Given the description of an element on the screen output the (x, y) to click on. 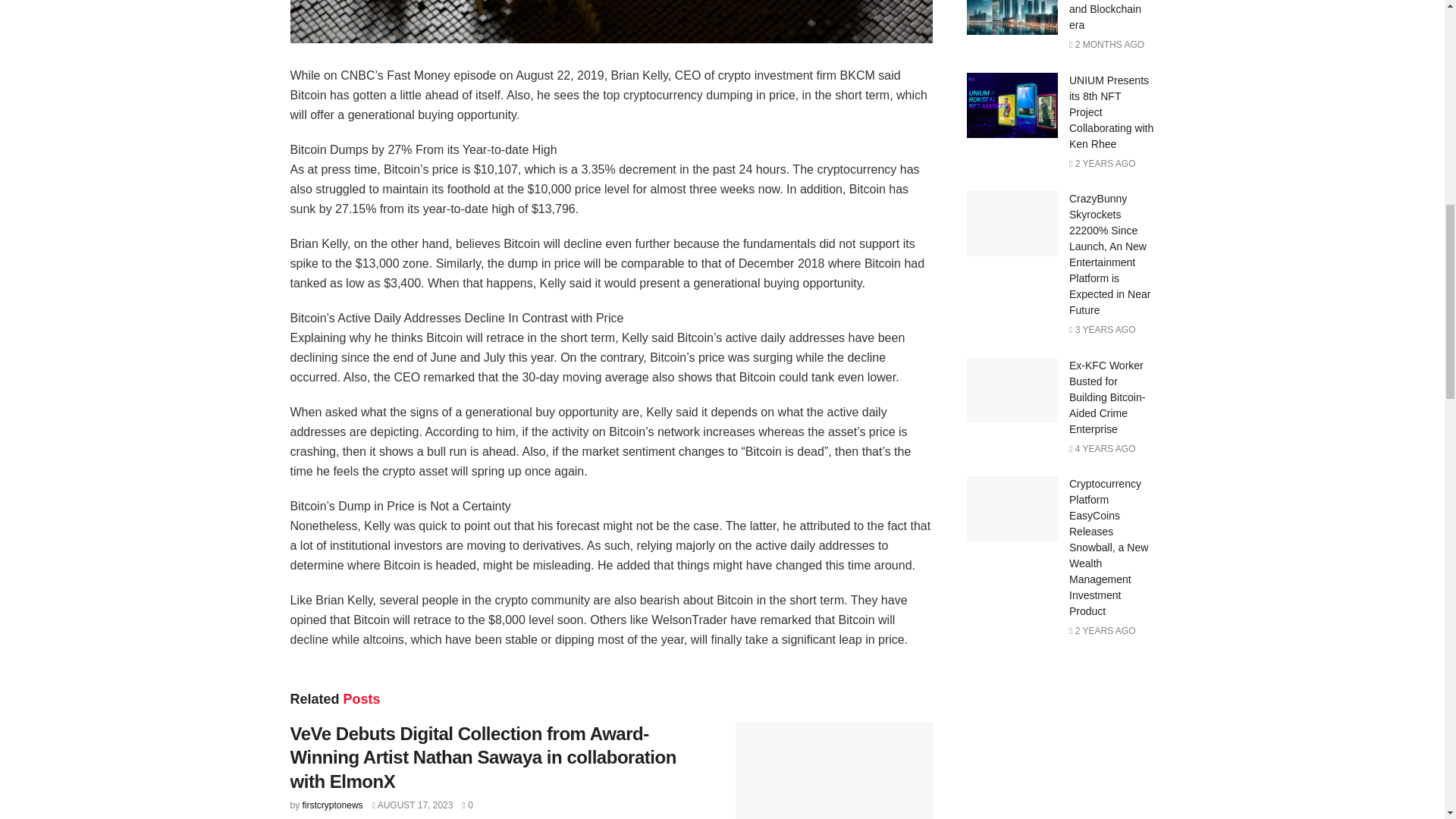
0 (466, 805)
firstcryptonews (332, 805)
AUGUST 17, 2023 (412, 805)
